Given the description of an element on the screen output the (x, y) to click on. 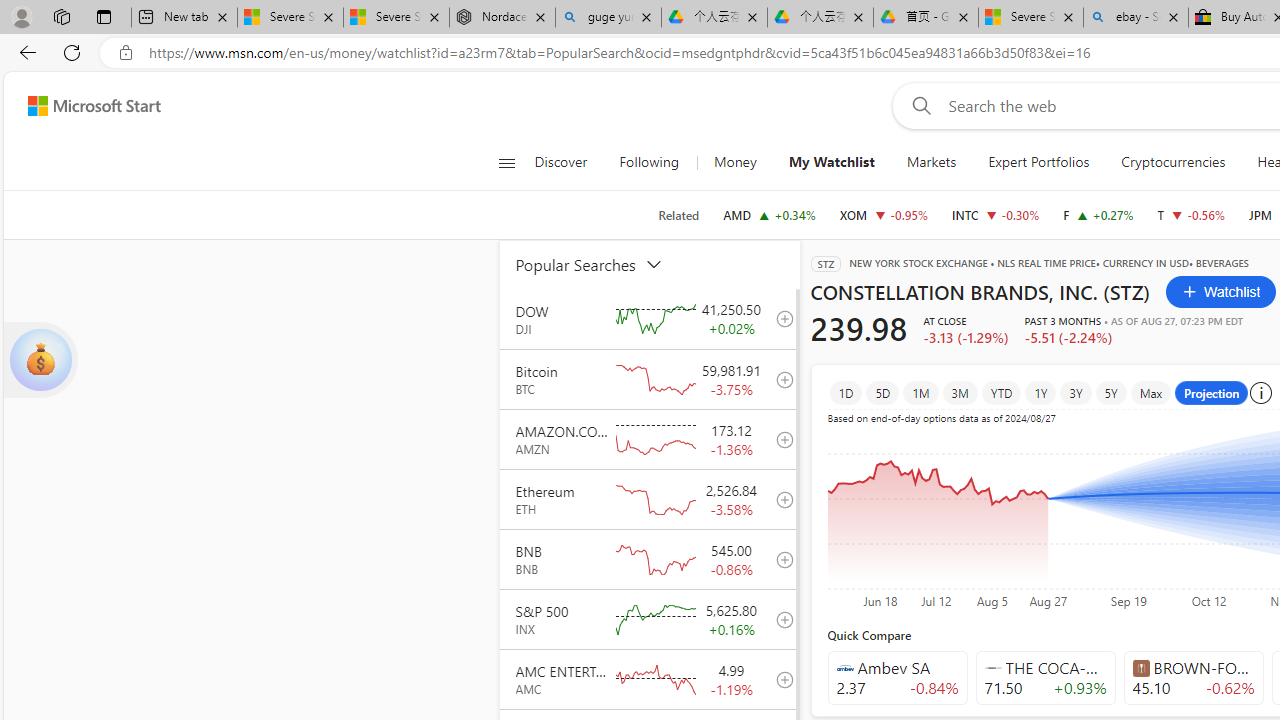
T AT&T INC. decrease 19.65 -0.11 -0.56% (1191, 214)
1M (920, 392)
Class: autoSuggestIcon-DS-EntryPoint1-1 (1140, 667)
Max (1151, 392)
1Y (1041, 392)
3M (959, 392)
F FORD MOTOR COMPANY increase 11.14 +0.03 +0.27% (1097, 214)
3Y (1075, 392)
